Given the description of an element on the screen output the (x, y) to click on. 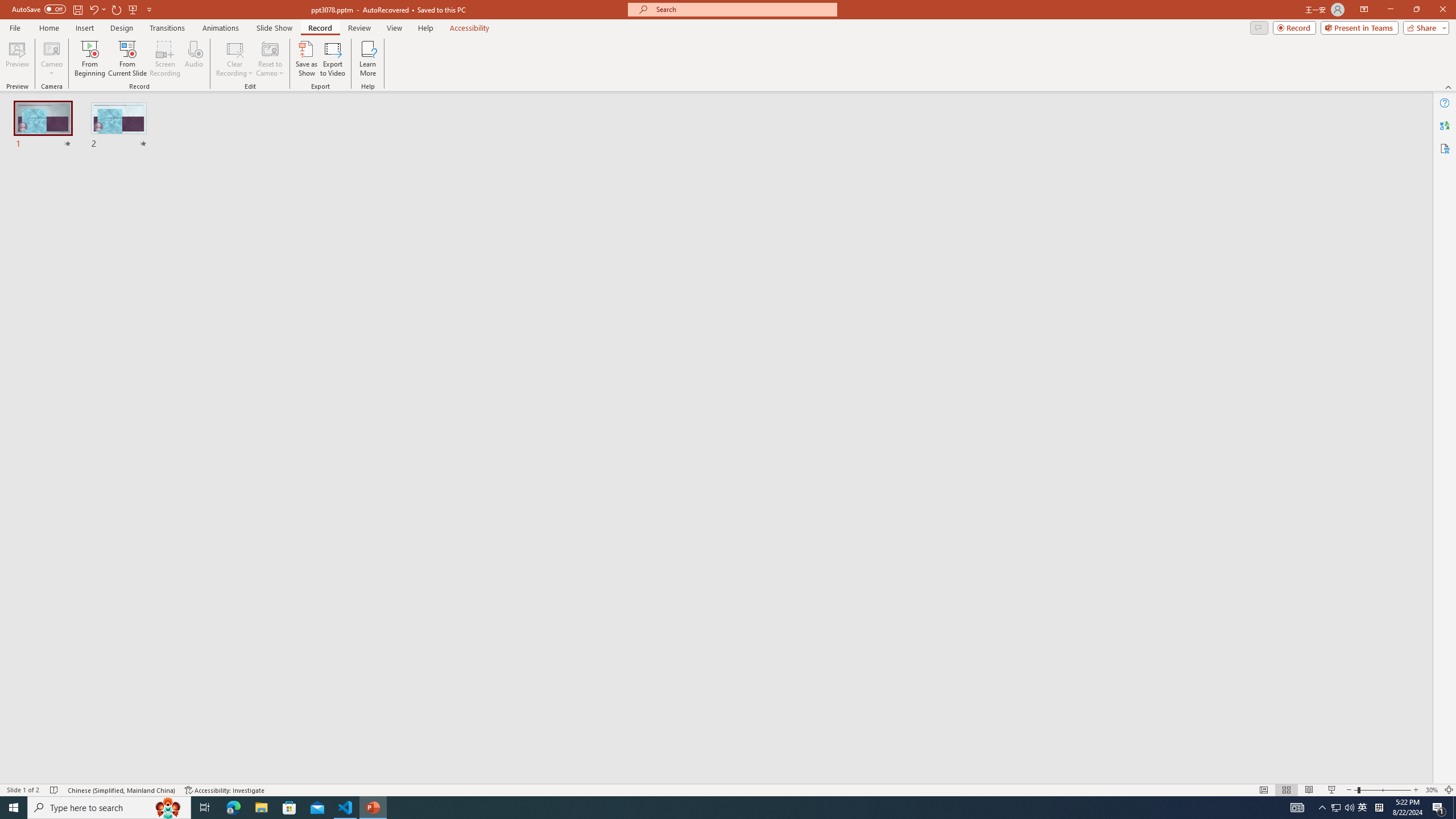
Learn More (368, 58)
From Current Slide... (127, 58)
Save as Show (306, 58)
